Given the description of an element on the screen output the (x, y) to click on. 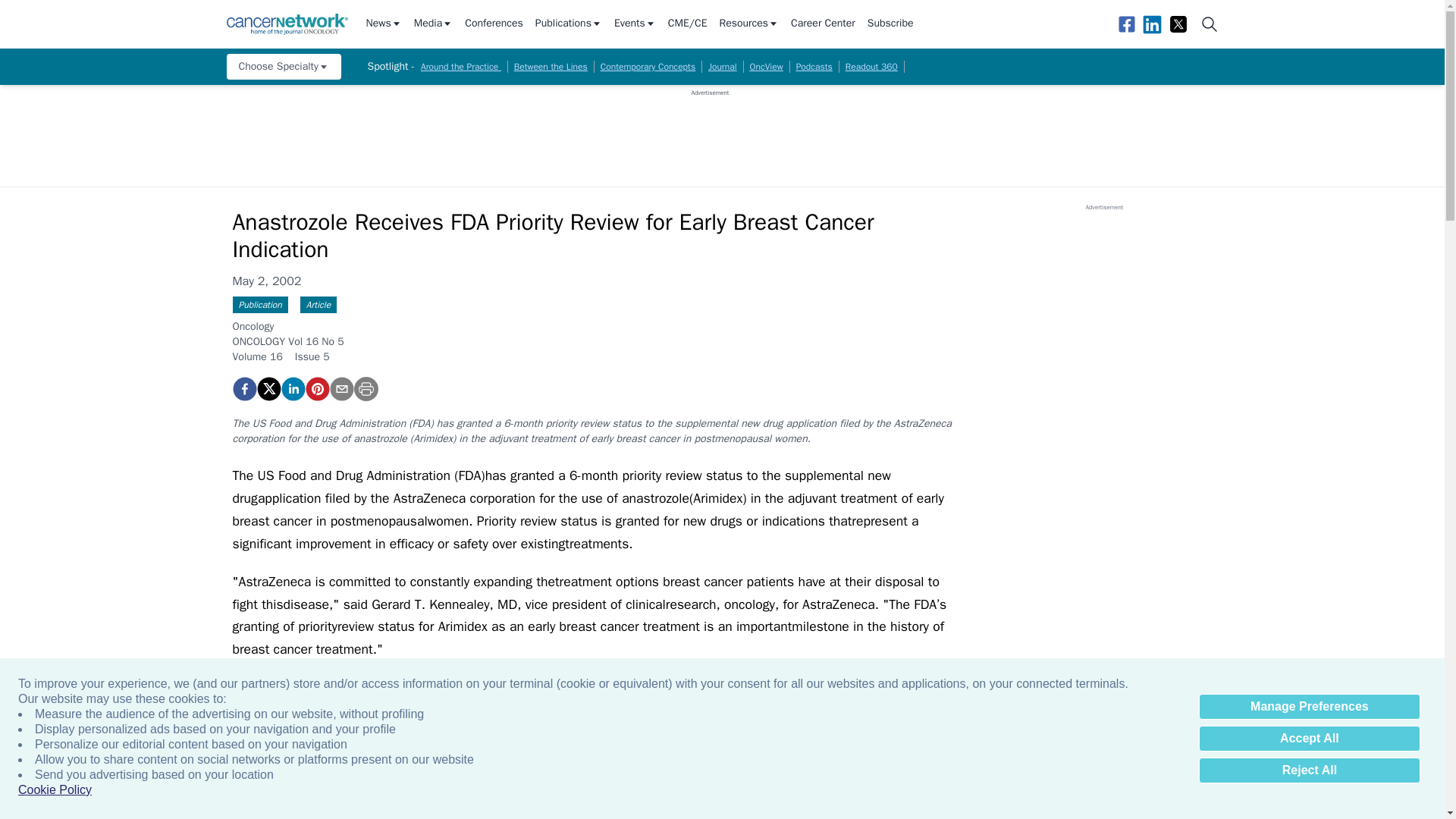
News (383, 23)
Manage Preferences (1309, 706)
Publications (568, 23)
Accept All (1309, 738)
Cookie Policy (54, 789)
Media (432, 23)
Events (635, 23)
Conferences (493, 23)
3rd party ad content (710, 131)
Reject All (1309, 769)
